Given the description of an element on the screen output the (x, y) to click on. 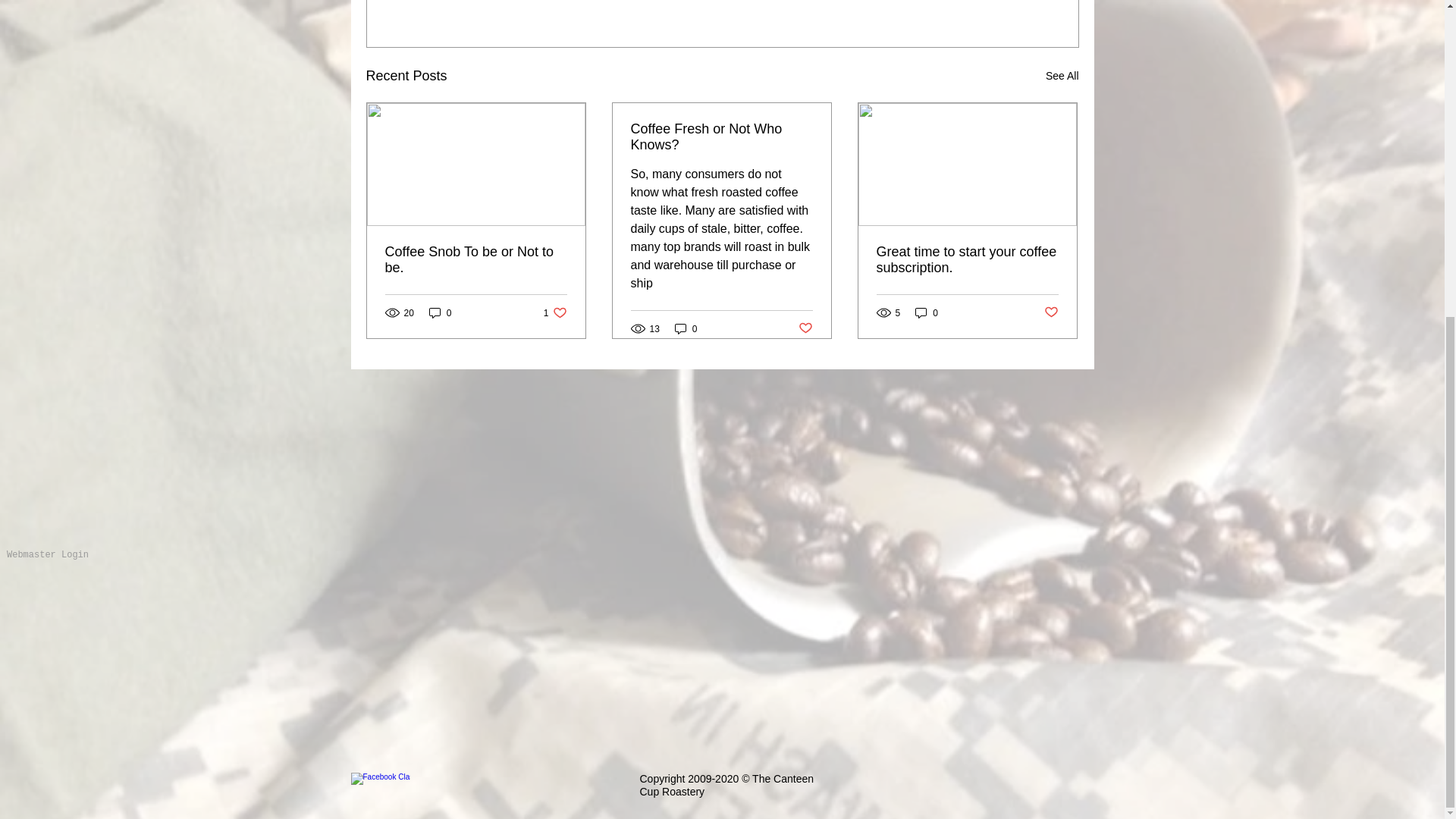
0 (440, 312)
Post not marked as liked (804, 328)
0 (685, 328)
Coffee Snob To be or Not to be. (476, 260)
0 (926, 312)
Coffee Fresh or Not Who Knows? (721, 137)
See All (1061, 75)
Great time to start your coffee subscription. (967, 260)
